Given the description of an element on the screen output the (x, y) to click on. 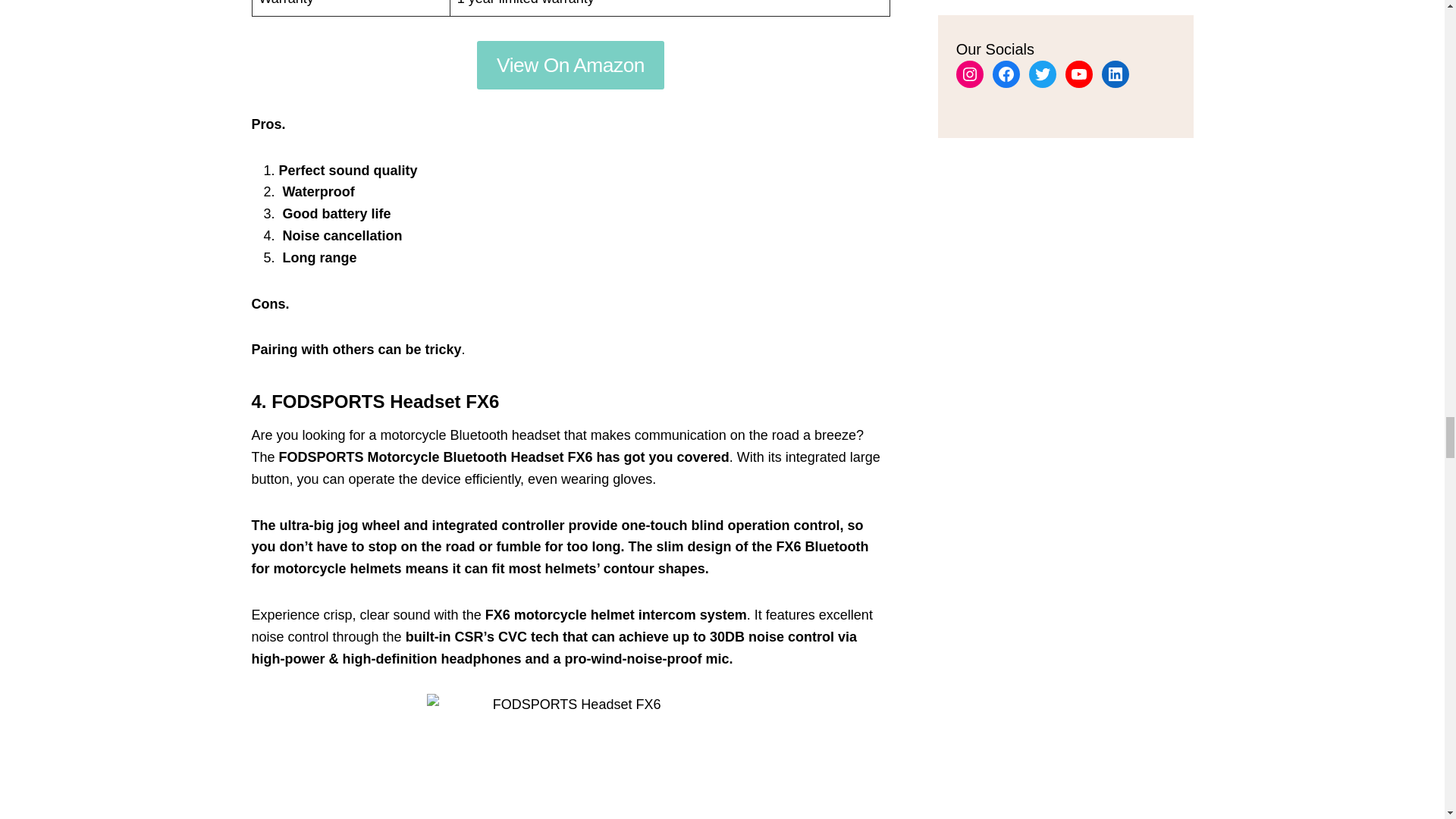
FODSPORTS Headset FX6 (384, 401)
FODSPORTS Headset FX6 (570, 756)
View On Amazon (571, 64)
